Given the description of an element on the screen output the (x, y) to click on. 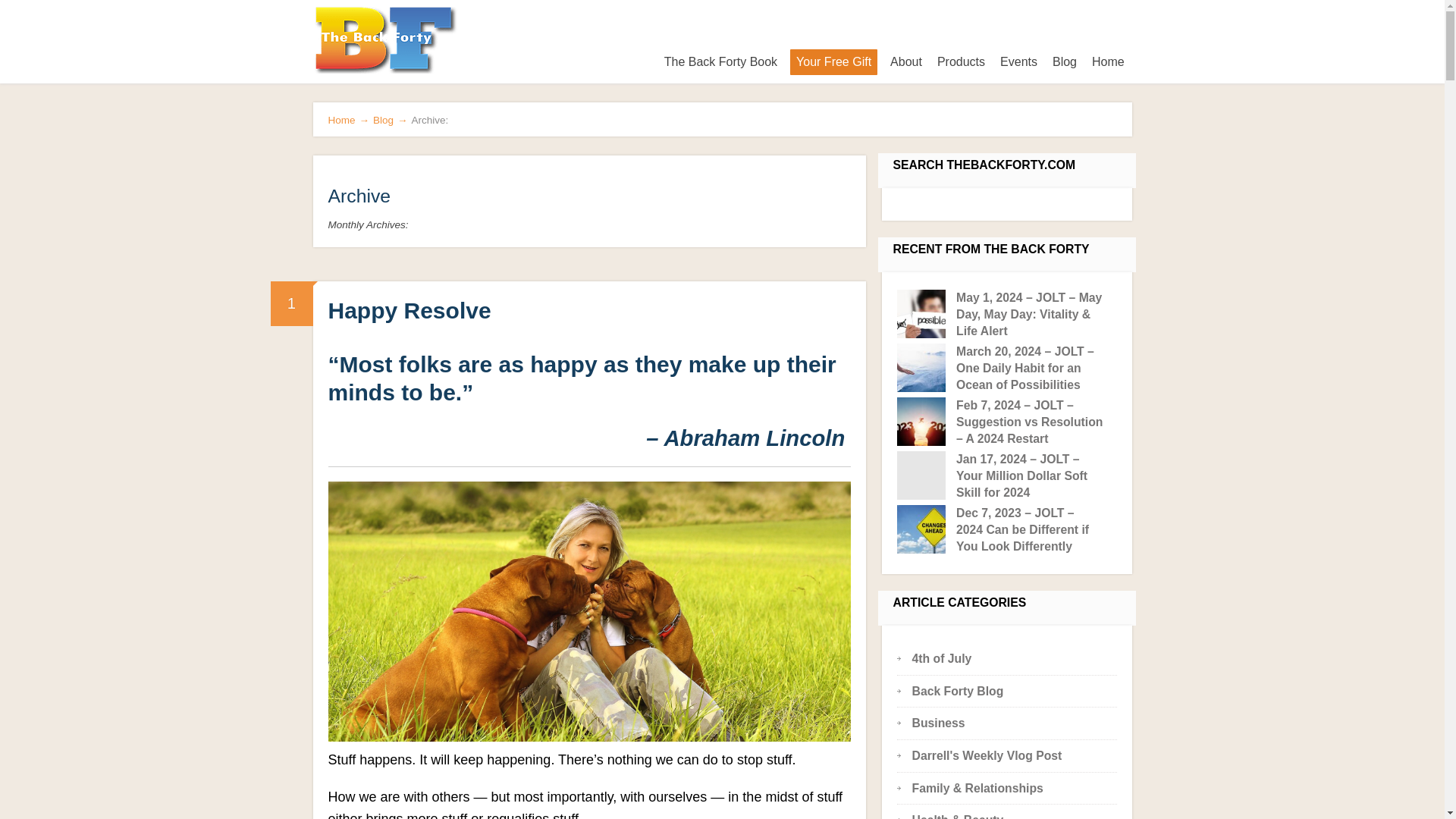
Blog (1064, 61)
Home (1108, 61)
About (906, 61)
Happy Resolve (408, 310)
Products (961, 61)
The Back Forty Book (720, 61)
1 (291, 303)
Events (1018, 61)
Your Free Gift (834, 61)
